Given the description of an element on the screen output the (x, y) to click on. 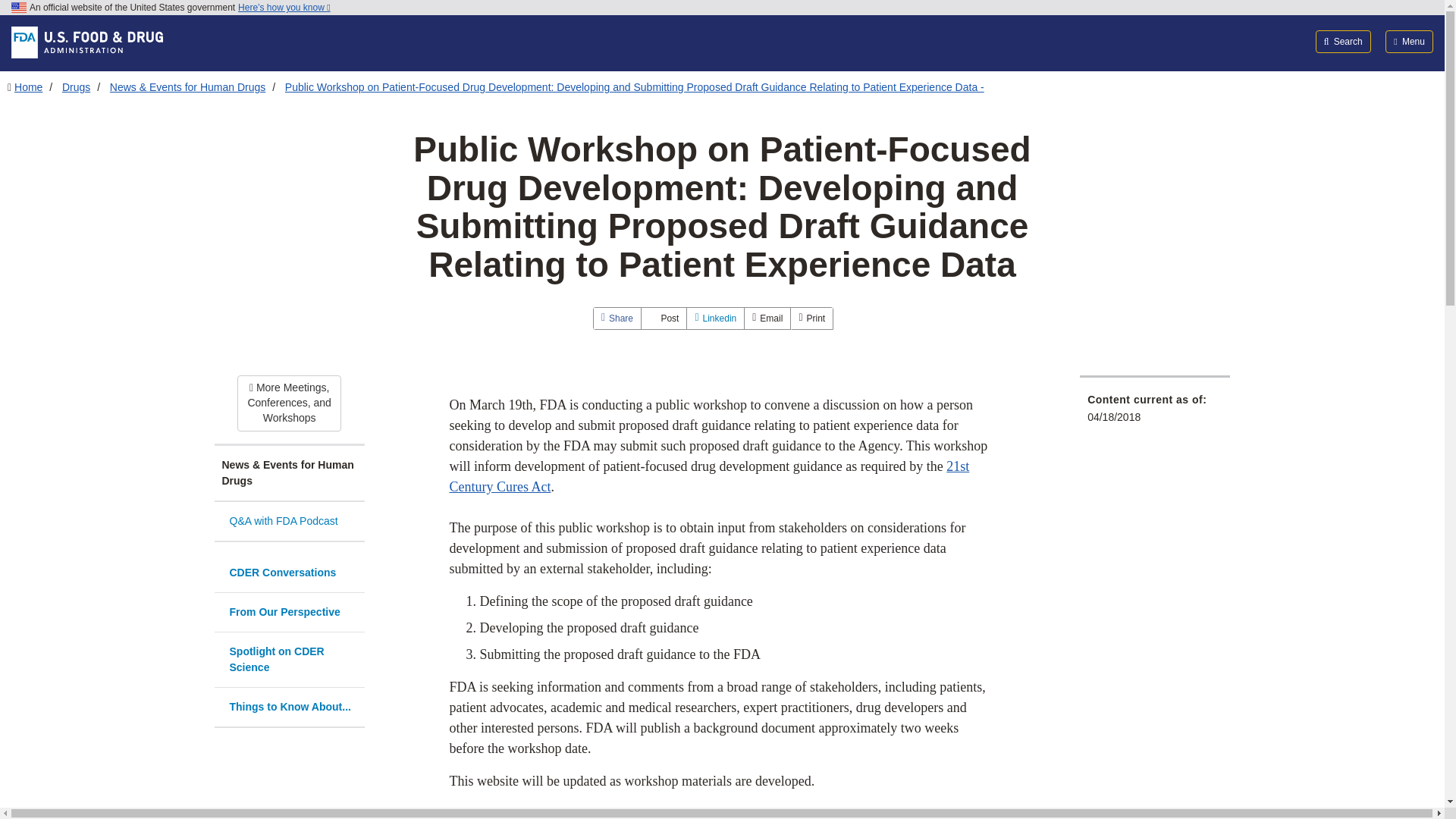
  Search (1343, 41)
  Menu (1409, 41)
Print this page (811, 318)
